Given the description of an element on the screen output the (x, y) to click on. 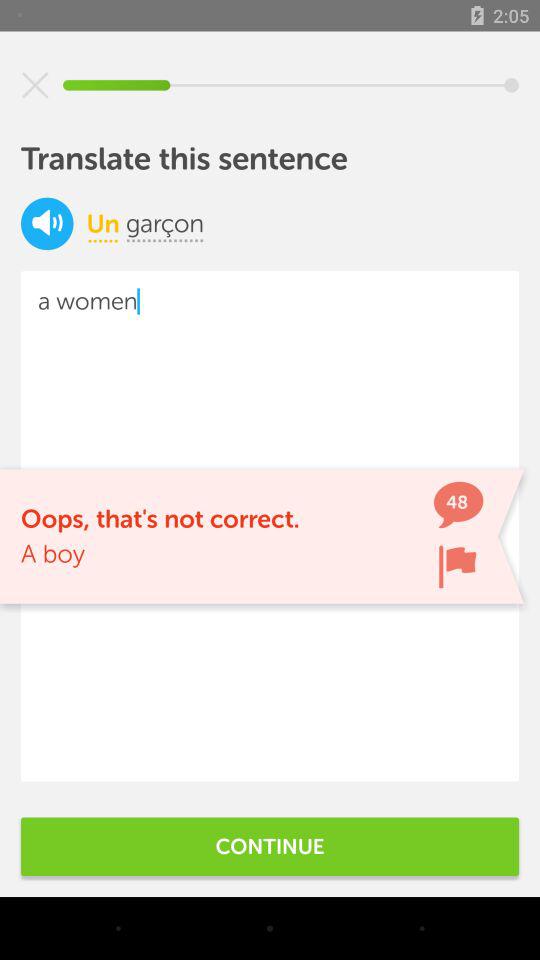
choose item to the right of the oops that s (457, 566)
